Given the description of an element on the screen output the (x, y) to click on. 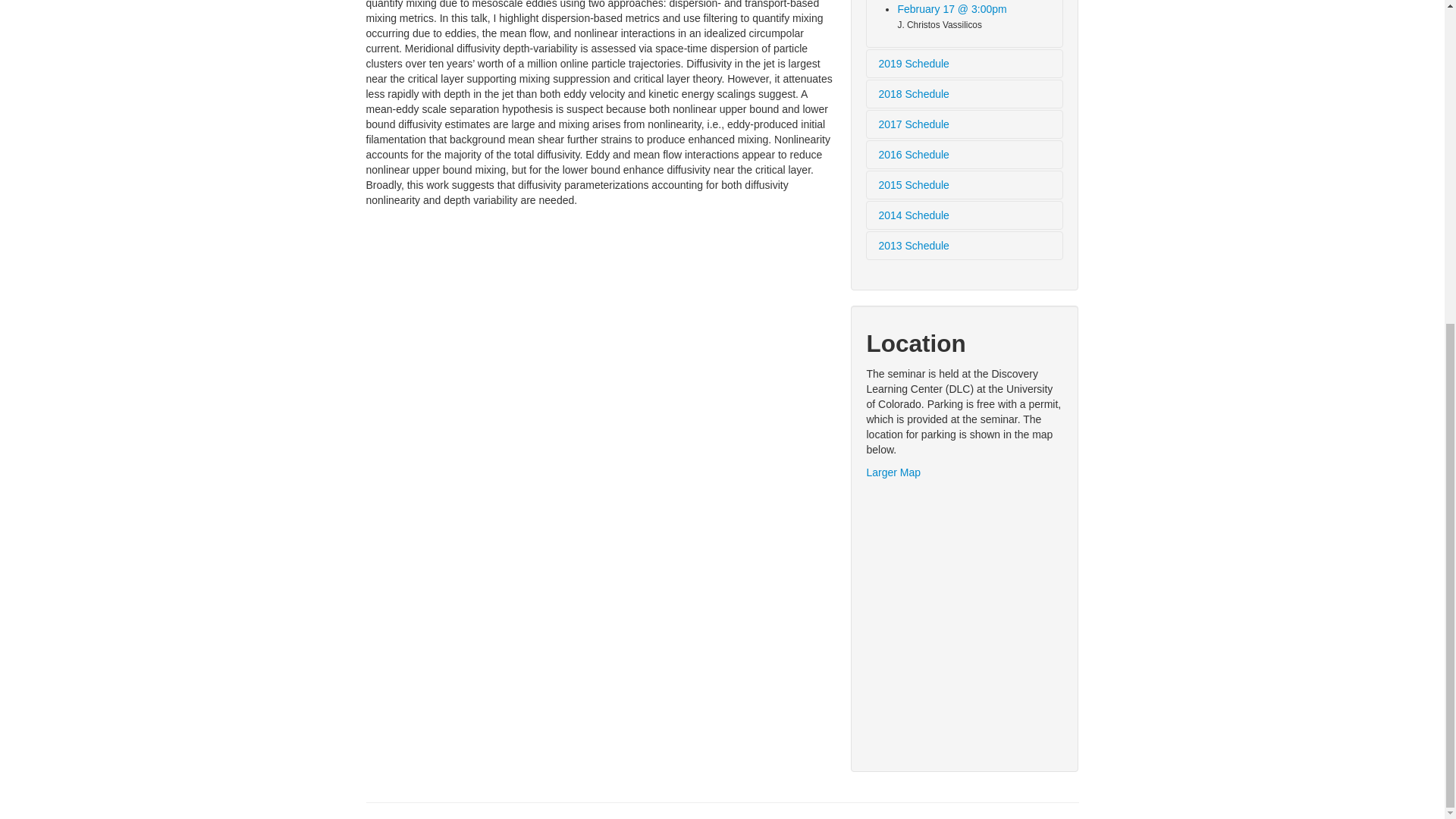
2018 Schedule (964, 93)
2017 Schedule (964, 123)
2019 Schedule (964, 62)
